Given the description of an element on the screen output the (x, y) to click on. 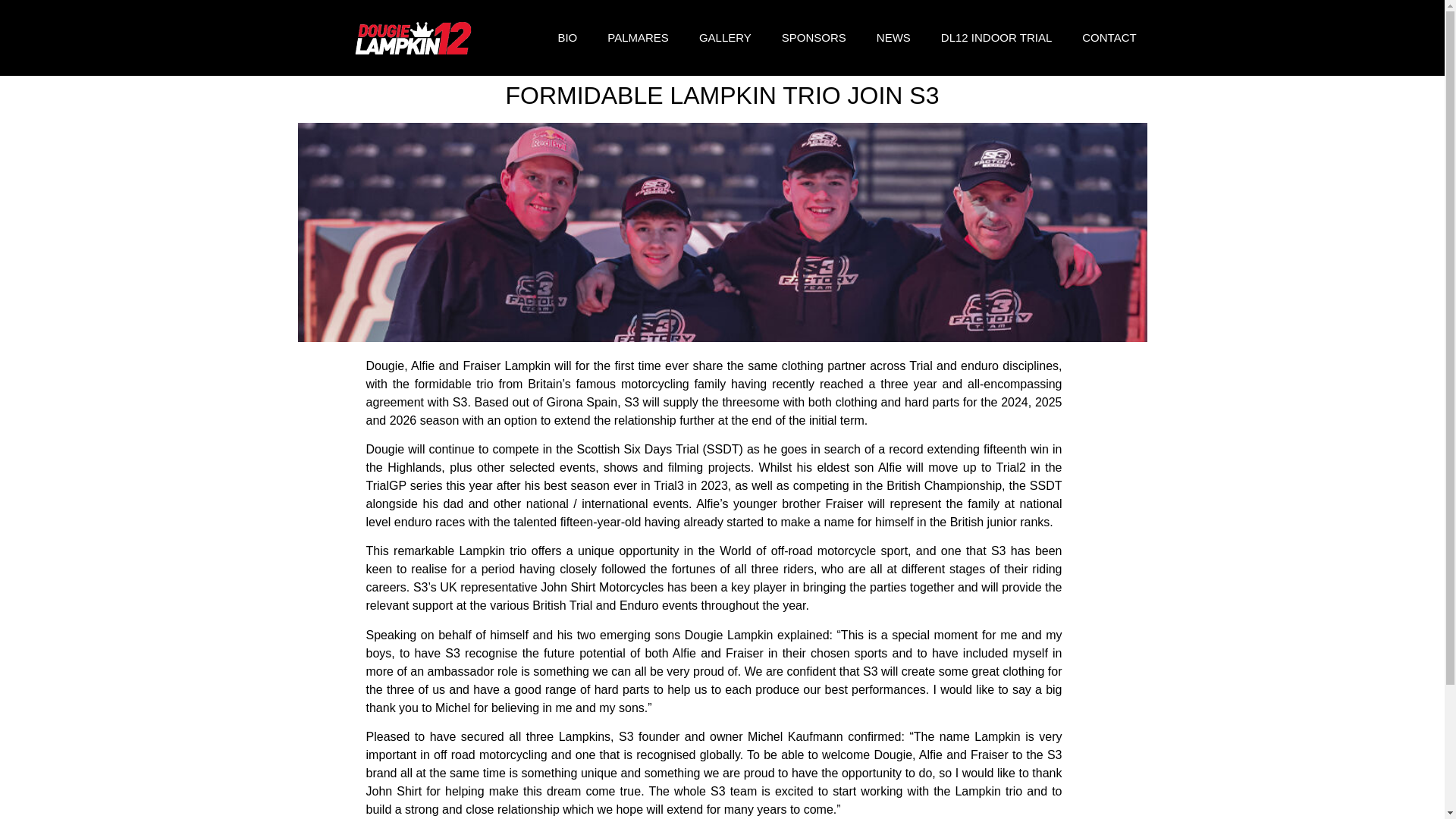
PALMARES (638, 38)
BIO (566, 38)
CONTACT (1109, 38)
NEWS (893, 38)
GALLERY (725, 38)
DL12 INDOOR TRIAL (996, 38)
SPONSORS (814, 38)
